Given the description of an element on the screen output the (x, y) to click on. 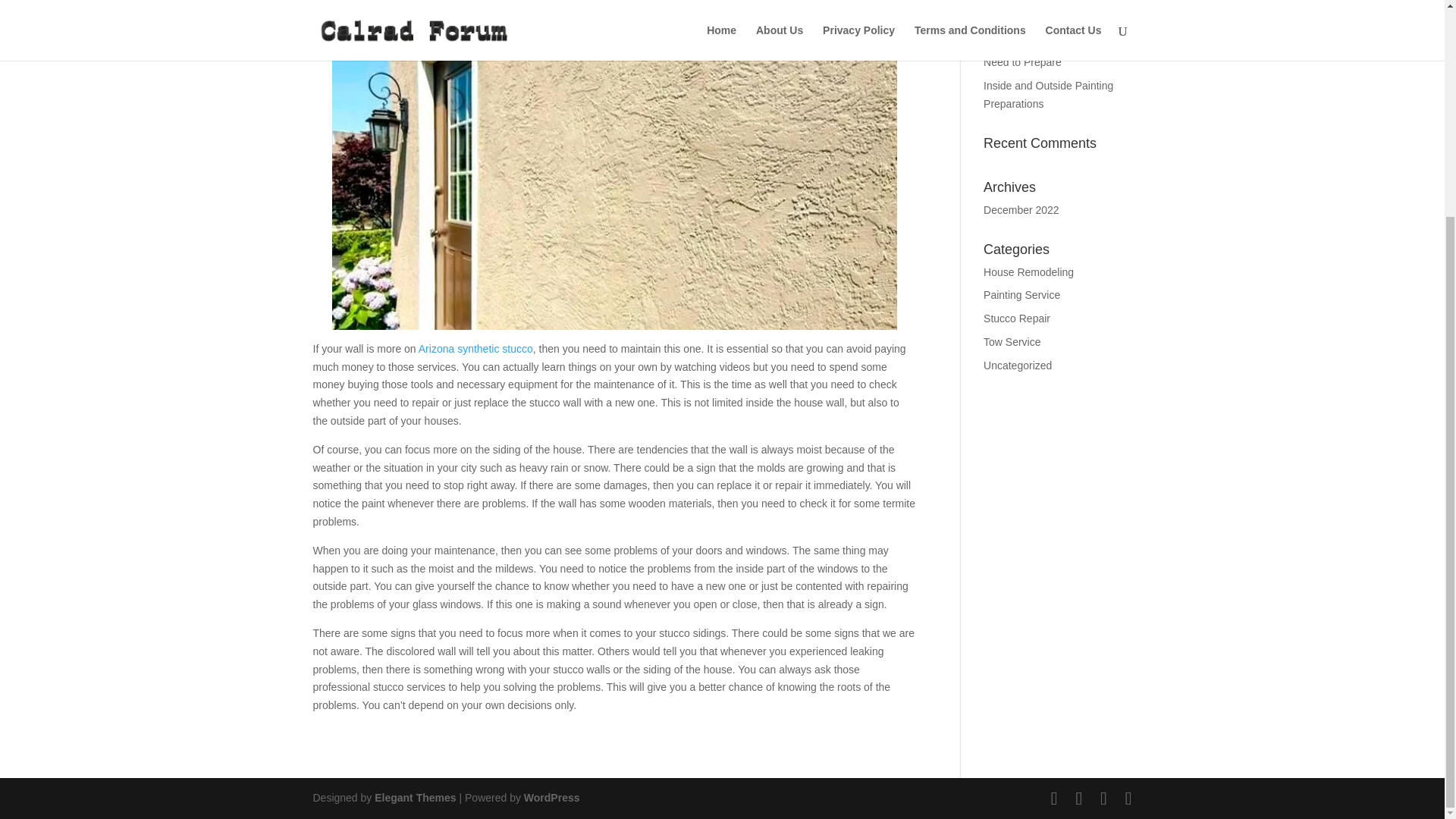
Inside and Outside Painting Preparations  (1048, 94)
Arizona synthetic stucco (475, 348)
Premium WordPress Themes (414, 797)
Stucco Repair (1016, 318)
Uncategorized (1017, 365)
Painting Service (1021, 295)
Painting Company Rules You Need to Prepare  (1052, 53)
WordPress (551, 797)
Tow Service (1012, 341)
House Remodeling (1029, 272)
Elegant Themes (414, 797)
December 2022 (1021, 209)
Helpful Road Reminders for Every Car Owner  (1049, 13)
